Given the description of an element on the screen output the (x, y) to click on. 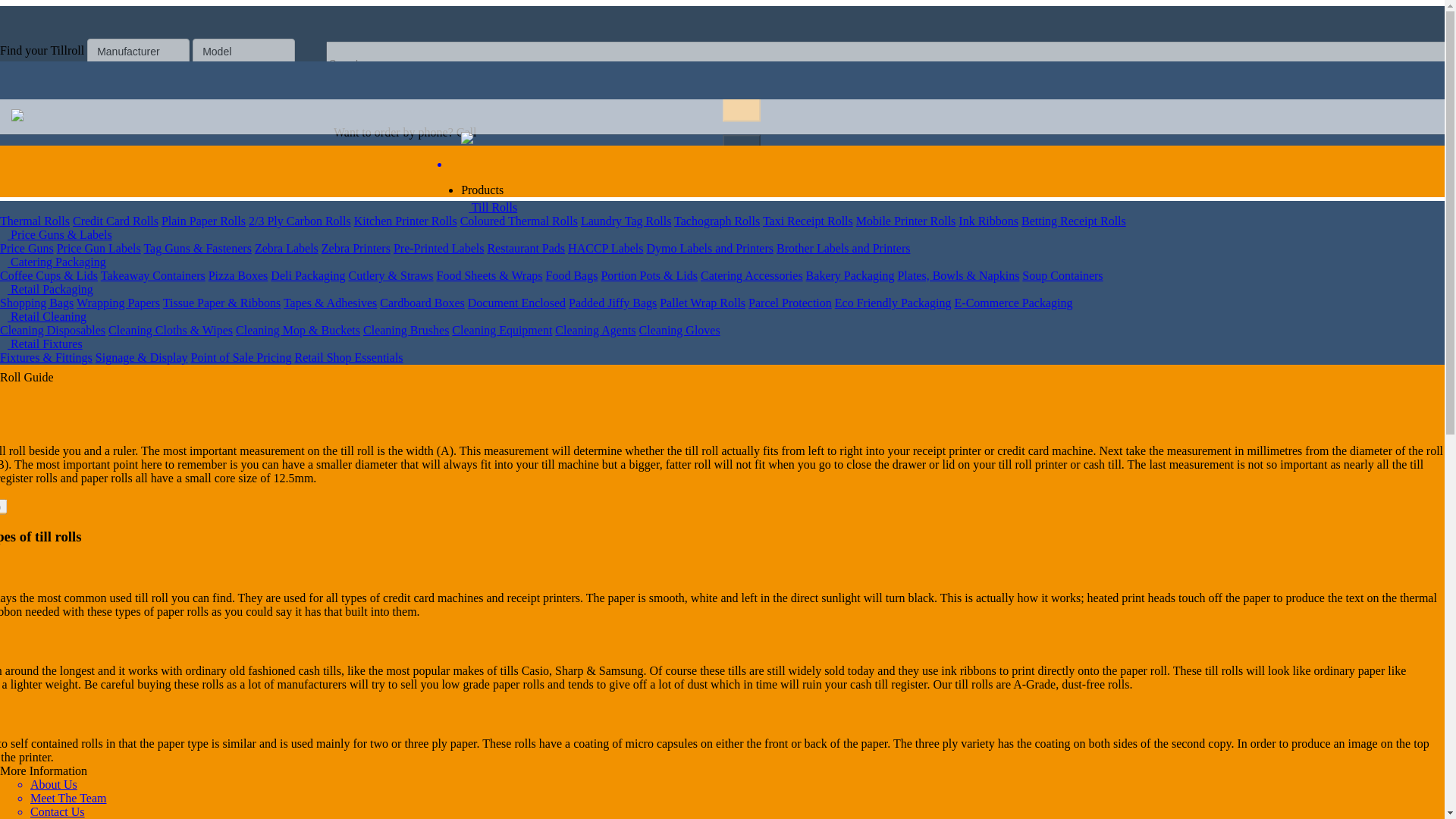
Dymo Labels and Printers (729, 269)
Food Bags (589, 297)
Pre-Printed Labels (457, 269)
Thermal Rolls (53, 240)
Credit Card Rolls (134, 240)
Tachograph Rolls (735, 240)
Restaurant Pads (544, 269)
Pizza Boxes (256, 297)
Soup Containers (1081, 297)
Laundry Tag Rolls (644, 240)
Ink Ribbons (1006, 240)
Brother Labels and Printers (861, 269)
Mobile Printer Rolls (925, 240)
Taxi Receipt Rolls (826, 240)
Plain Paper Rolls (222, 240)
